Given the description of an element on the screen output the (x, y) to click on. 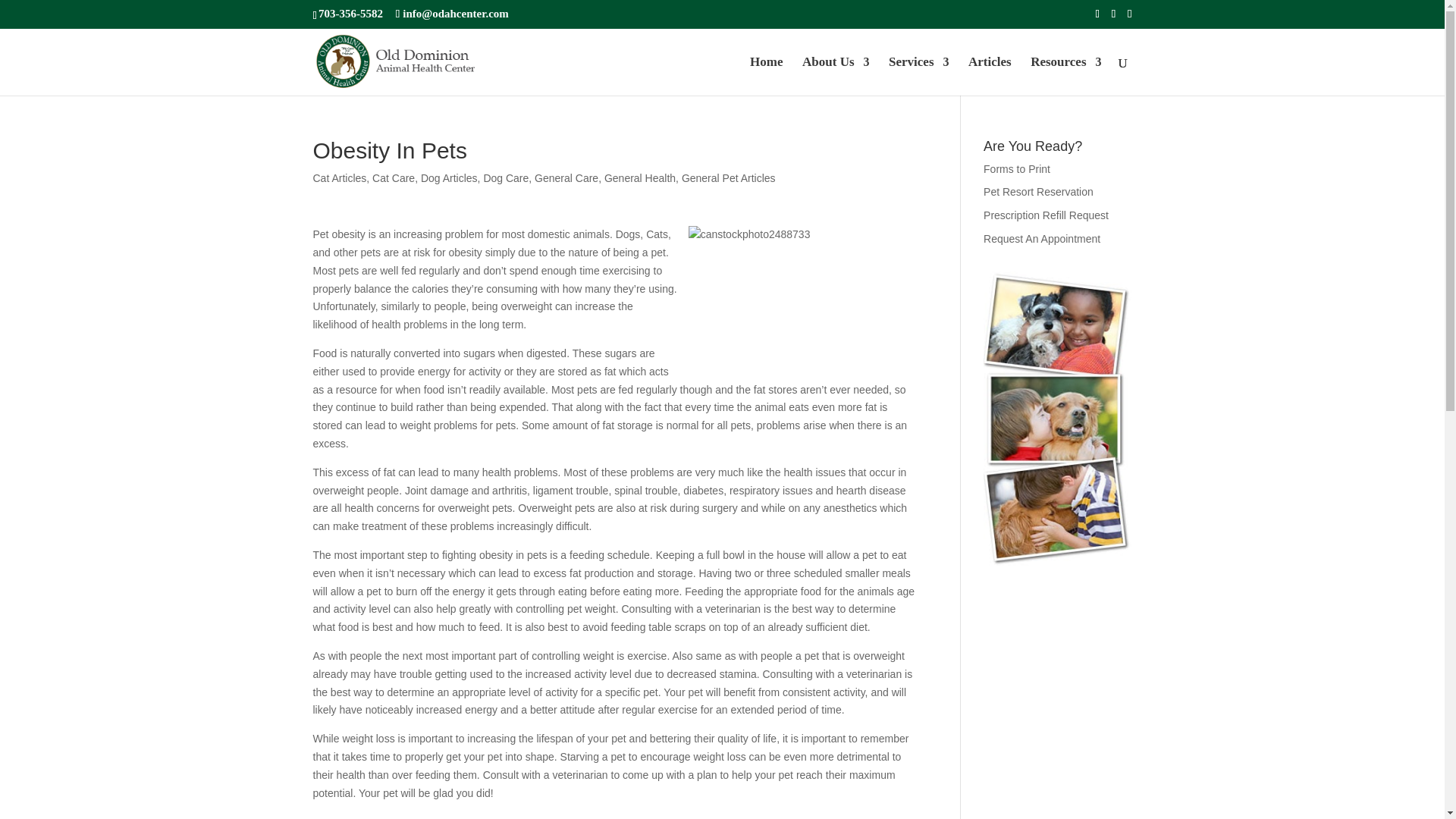
Articles (989, 75)
Services (918, 75)
About Us (835, 75)
Resources (1065, 75)
